Given the description of an element on the screen output the (x, y) to click on. 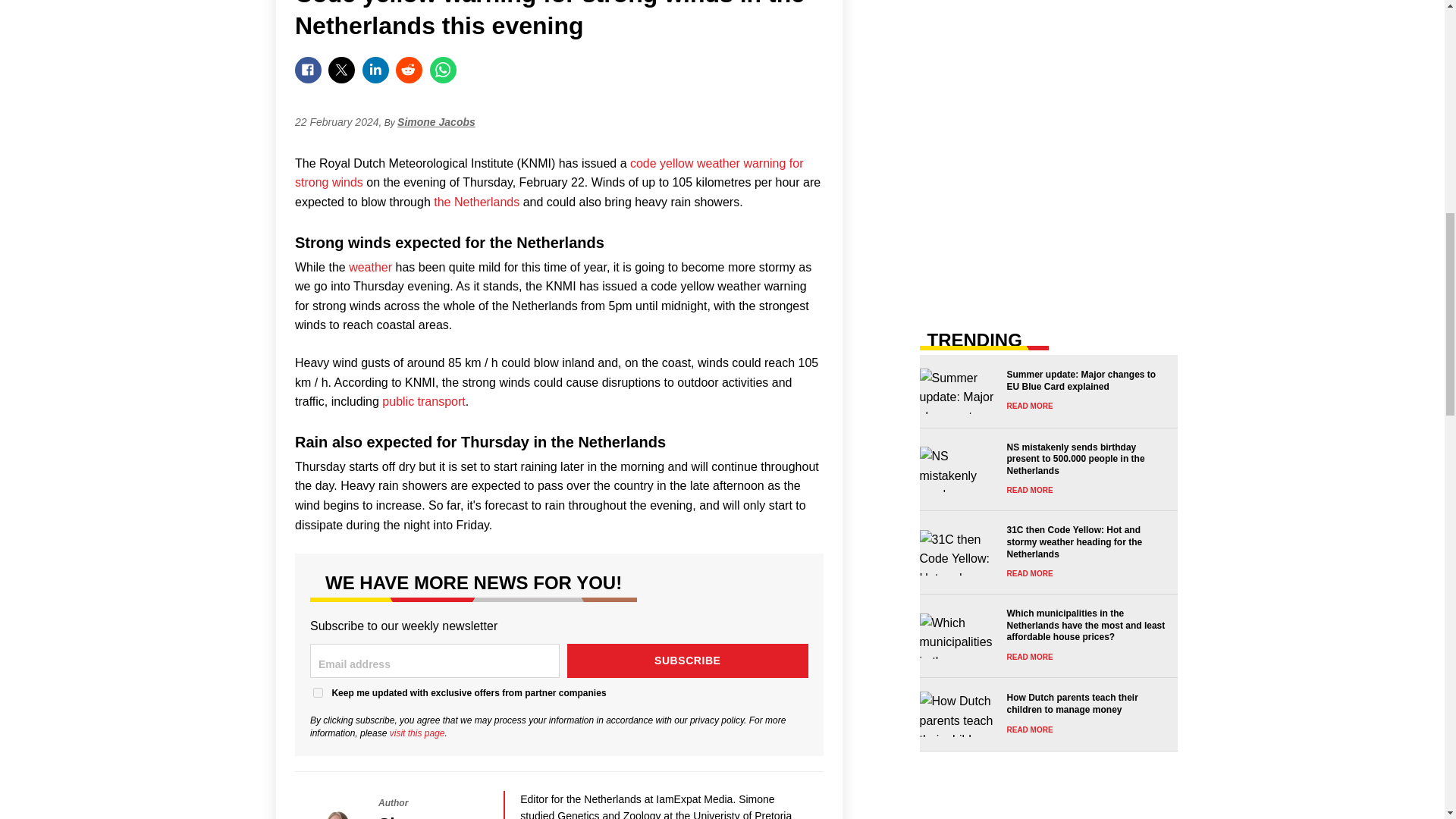
How Dutch parents teach their children to manage money (1043, 714)
Summer update: Major changes to EU Blue Card explained (1043, 391)
3a8934be26 (318, 692)
Subscribe (688, 660)
